Given the description of an element on the screen output the (x, y) to click on. 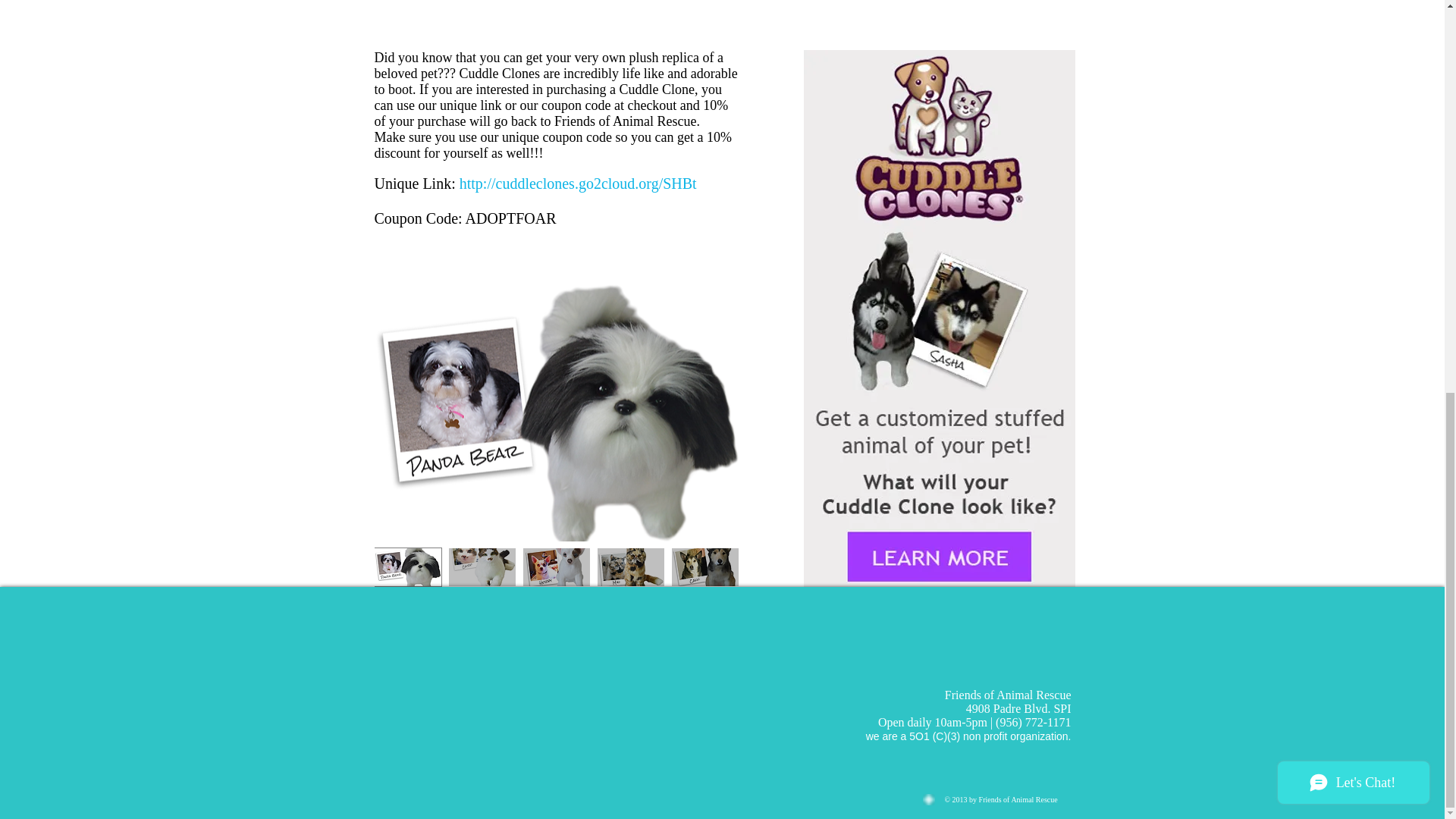
Unique Link: (417, 183)
